Given the description of an element on the screen output the (x, y) to click on. 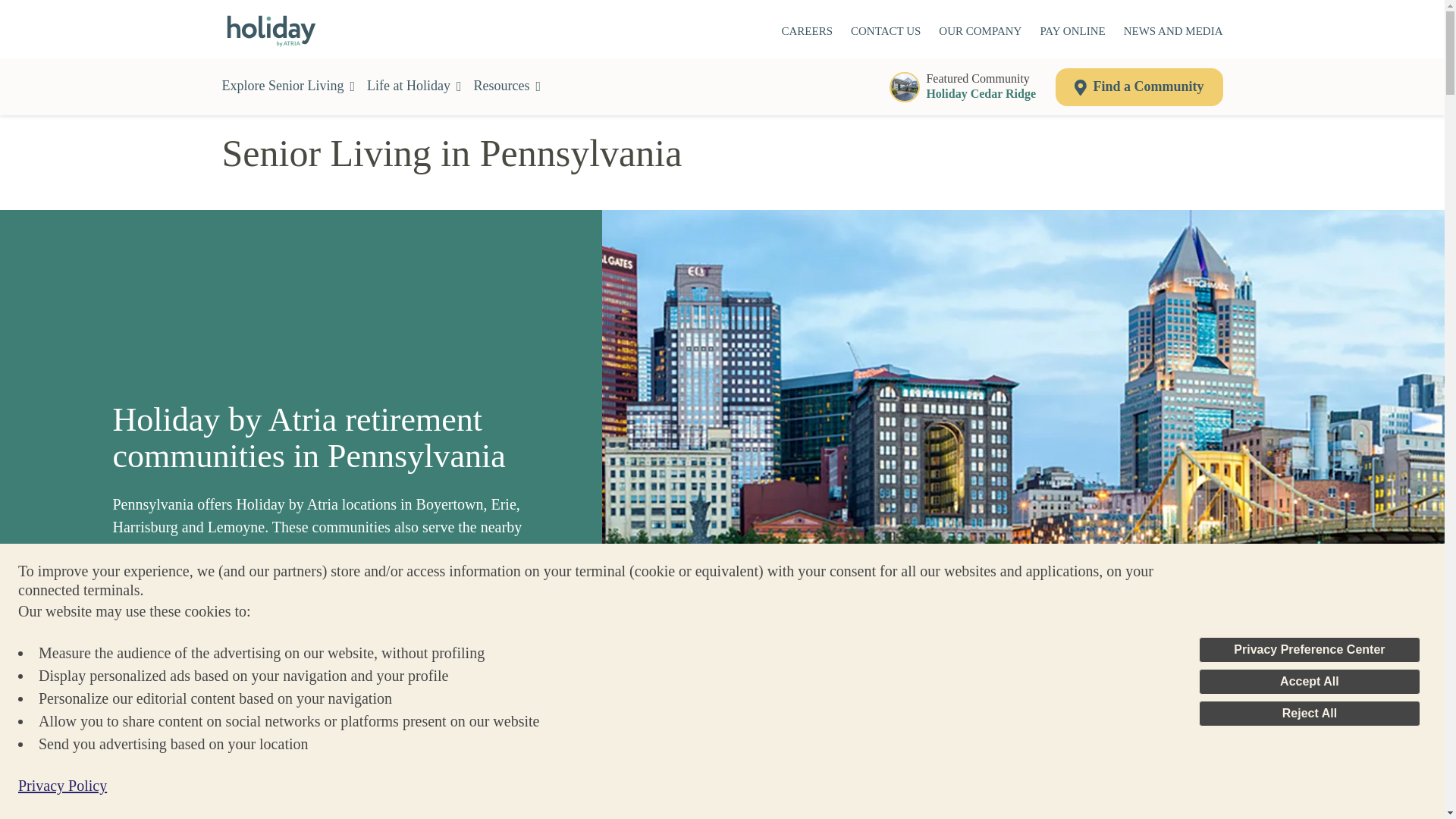
Accept All (1309, 681)
Privacy Policy (61, 784)
PAY ONLINE (1072, 32)
OUR COMPANY (980, 32)
Find a Community (967, 87)
Reject All (1139, 86)
Resources (1309, 713)
CAREERS (507, 86)
CONTACT US (806, 32)
Life at Holiday (885, 32)
Privacy Preference Center (413, 86)
NEWS AND MEDIA (1309, 649)
Explore Senior Living (1173, 32)
